Given the description of an element on the screen output the (x, y) to click on. 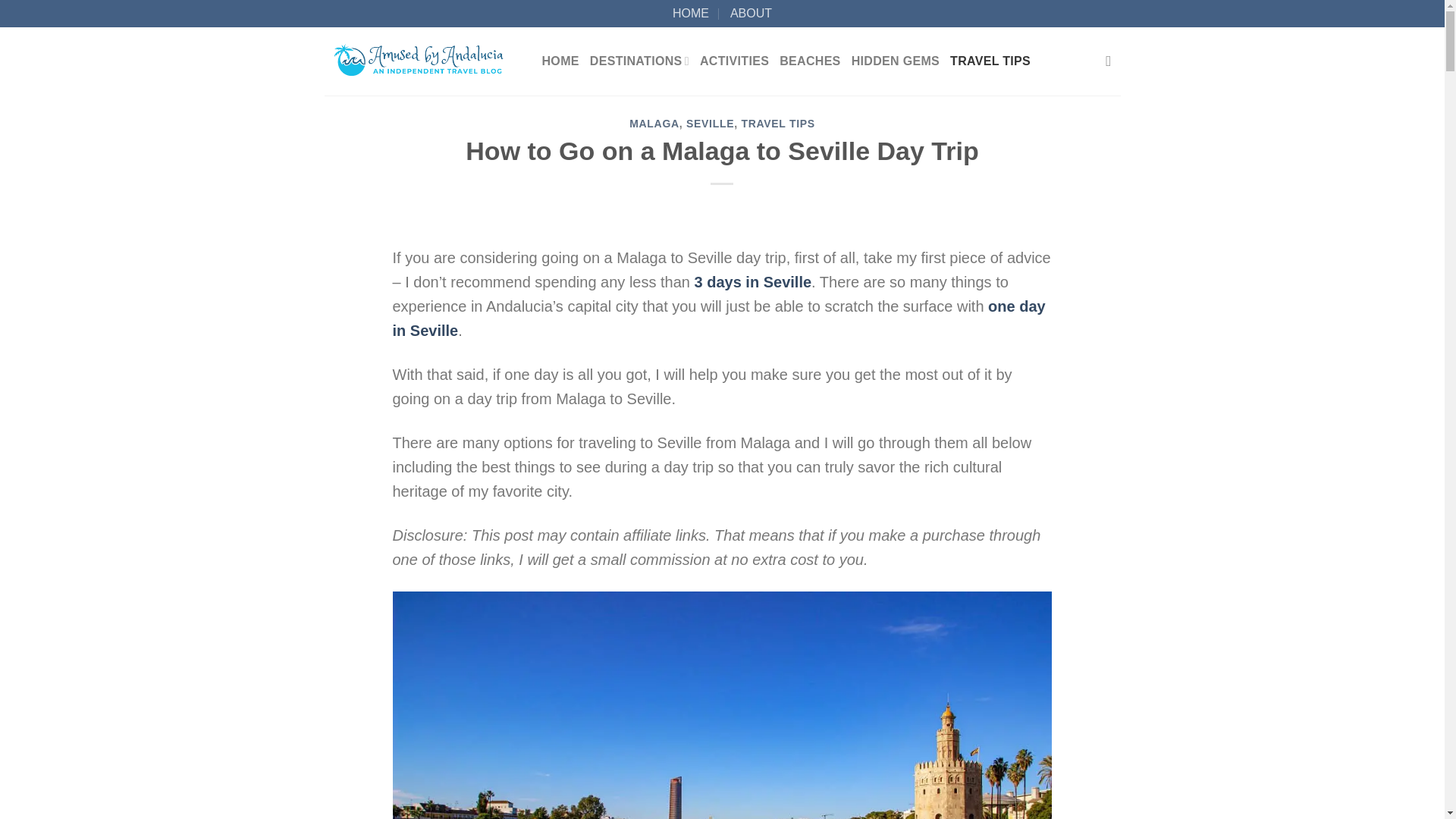
ACTIVITIES (734, 61)
HOME (559, 61)
ABOUT (750, 13)
DESTINATIONS (638, 61)
HIDDEN GEMS (895, 61)
Amused by Andalucia (421, 60)
TRAVEL TIPS (777, 123)
HOME (690, 13)
3 days in Seville (753, 281)
MALAGA (653, 123)
BEACHES (809, 61)
TRAVEL TIPS (990, 61)
SEVILLE (709, 123)
one day in Seville (719, 318)
